Given the description of an element on the screen output the (x, y) to click on. 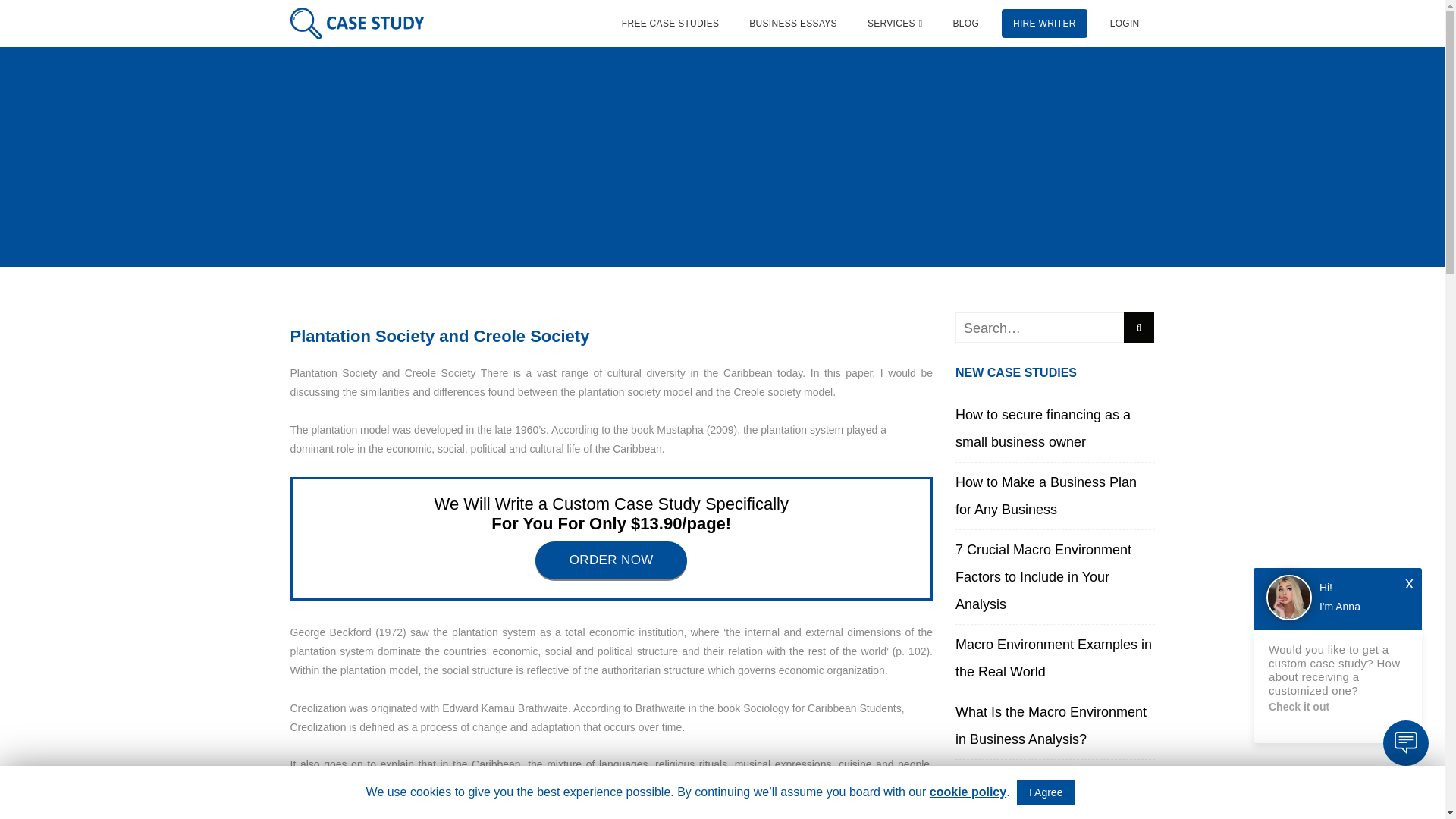
LOGIN (1124, 23)
BLOG (965, 23)
FREE CASE STUDIES (670, 23)
SERVICES (895, 23)
BUSINESS ESSAYS (793, 23)
HIRE WRITER (1044, 23)
